Given the description of an element on the screen output the (x, y) to click on. 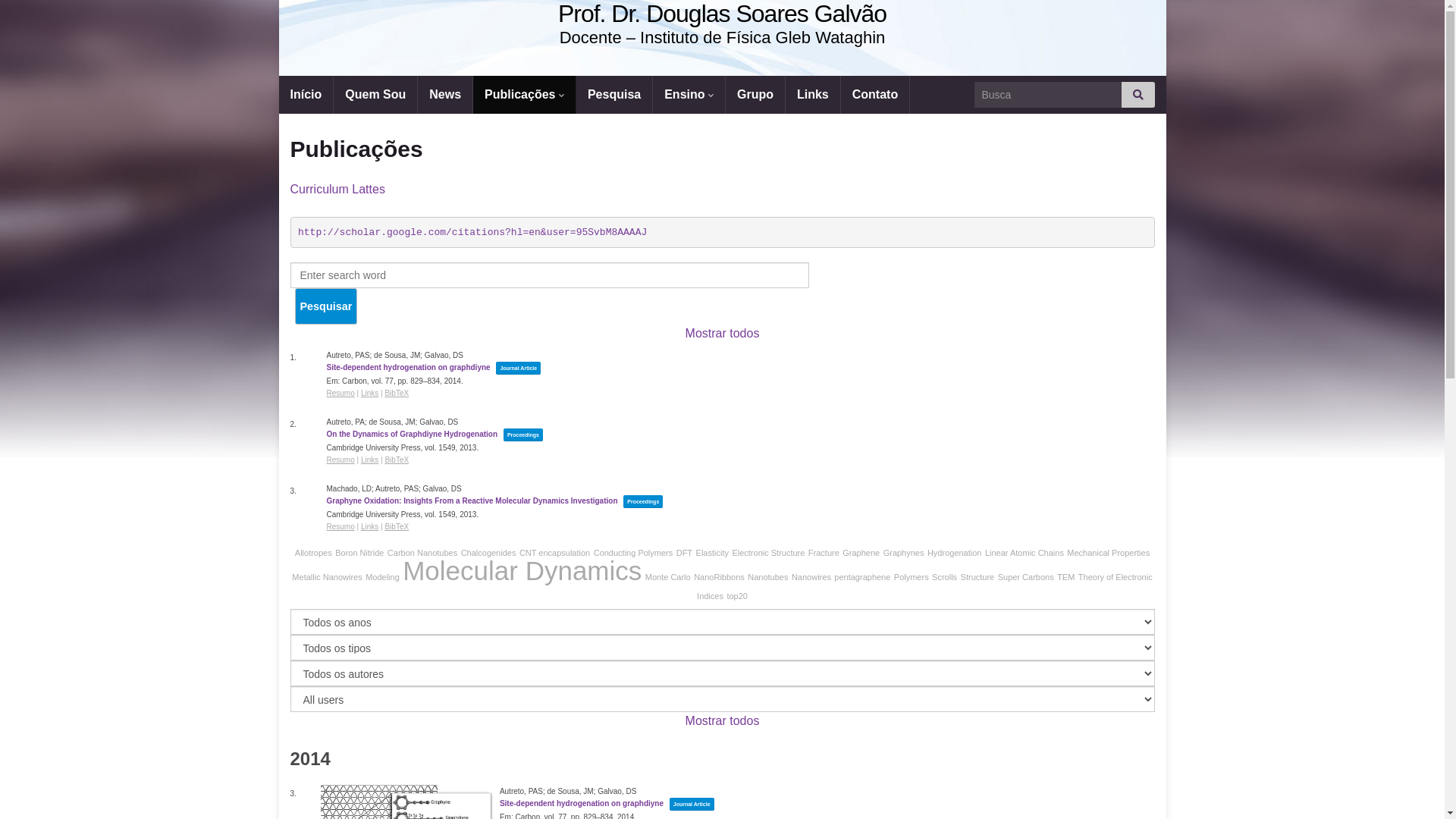
Carbon Nanotubes Element type: text (422, 552)
Linear Atomic Chains Element type: text (1024, 552)
TEM Element type: text (1065, 576)
Structure Element type: text (977, 576)
Links Element type: text (812, 94)
Resumo Element type: text (340, 459)
http://scholar.google.com/citations?hl=en&user=95SvbM8AAAAJ Element type: text (472, 231)
Mostrar todos Element type: text (722, 332)
Quem Sou Element type: text (375, 94)
Graphynes Element type: text (903, 552)
Site-dependent hydrogenation on graphdiyne Element type: text (581, 803)
DFT Element type: text (684, 552)
Resumo Element type: text (340, 526)
Boron Nitride Element type: text (359, 552)
Ensino Element type: text (688, 94)
Nanowires Element type: text (811, 576)
Links Element type: text (369, 526)
Conducting Polymers Element type: text (633, 552)
BibTeX Element type: text (396, 526)
News Element type: text (444, 94)
Pesquisar Element type: text (325, 306)
Fracture Element type: text (823, 552)
Curriculum Lattes Element type: text (336, 188)
Modeling Element type: text (382, 576)
BibTeX Element type: text (396, 393)
Mostrar todos Element type: text (722, 720)
Polymers Element type: text (911, 576)
BibTeX Element type: text (396, 459)
Links Element type: text (369, 393)
Site-dependent hydrogenation on graphdiyne Element type: text (407, 367)
Nanotubes Element type: text (767, 576)
Mechanical Properties Element type: text (1107, 552)
Links Element type: text (369, 459)
Contato Element type: text (874, 94)
Resumo Element type: text (340, 393)
Chalcogenides Element type: text (488, 552)
top20 Element type: text (736, 595)
CNT encapsulation Element type: text (554, 552)
Hydrogenation Element type: text (954, 552)
pentagraphene Element type: text (862, 576)
Pesquisa Element type: text (614, 94)
Super Carbons Element type: text (1025, 576)
Theory of Electronic Indices Element type: text (924, 586)
Elasticity Element type: text (712, 552)
On the Dynamics of Graphdiyne Hydrogenation Element type: text (411, 433)
Monte Carlo Element type: text (667, 576)
NanoRibbons Element type: text (718, 576)
Molecular Dynamics Element type: text (521, 570)
Allotropes Element type: text (313, 552)
Scrolls Element type: text (944, 576)
Grupo Element type: text (754, 94)
Electronic Structure Element type: text (767, 552)
Graphene Element type: text (860, 552)
Metallic Nanowires Element type: text (326, 576)
